Given the description of an element on the screen output the (x, y) to click on. 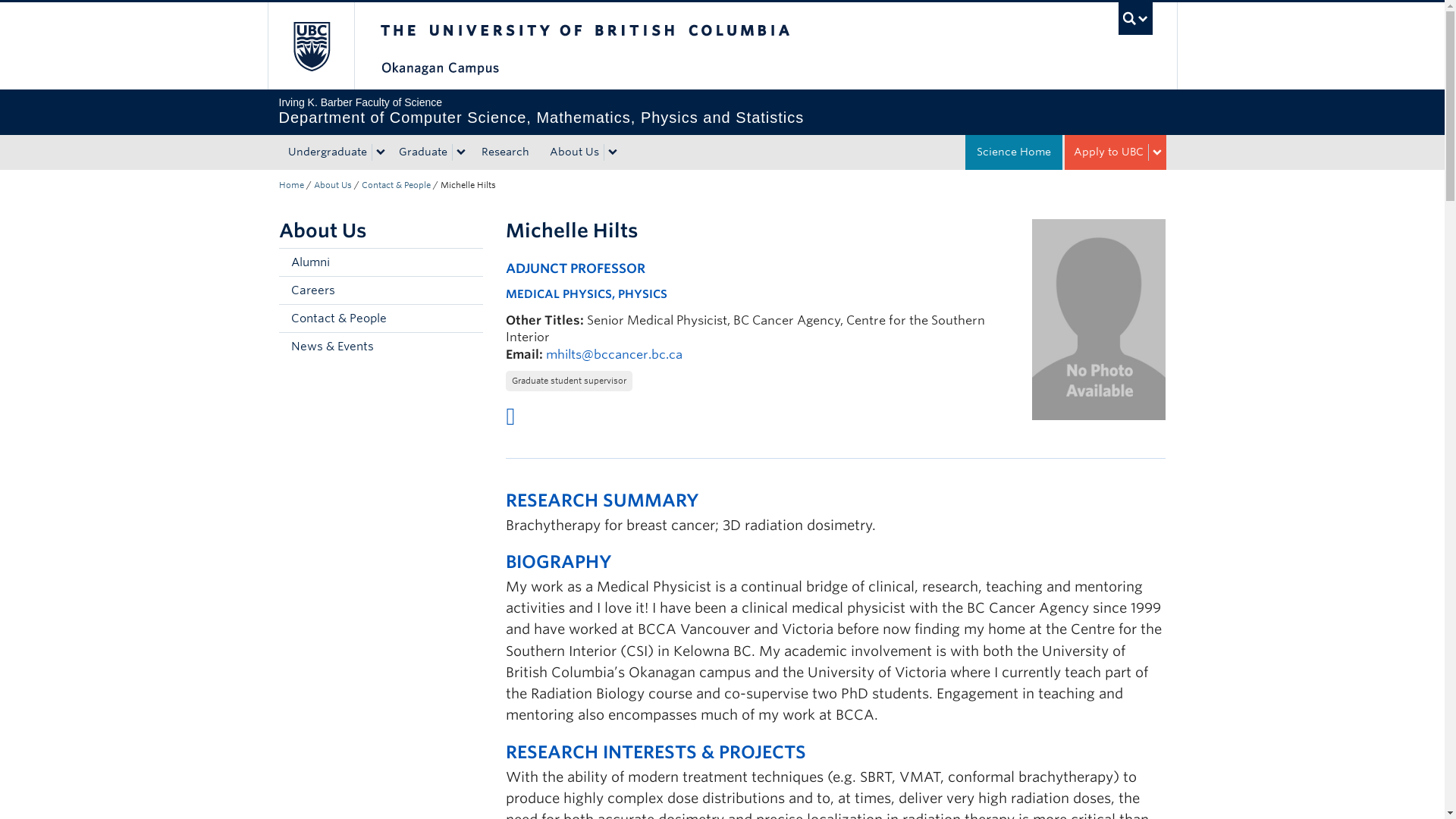
About Us (572, 151)
The University of British Columbia (635, 45)
About Us (333, 184)
UBC Search (1135, 18)
Research (505, 151)
Undergraduate (325, 151)
Graduate (421, 151)
Computer Science, Mathematics, Physics and Statistics (291, 184)
The University of British Columbia (309, 45)
